Given the description of an element on the screen output the (x, y) to click on. 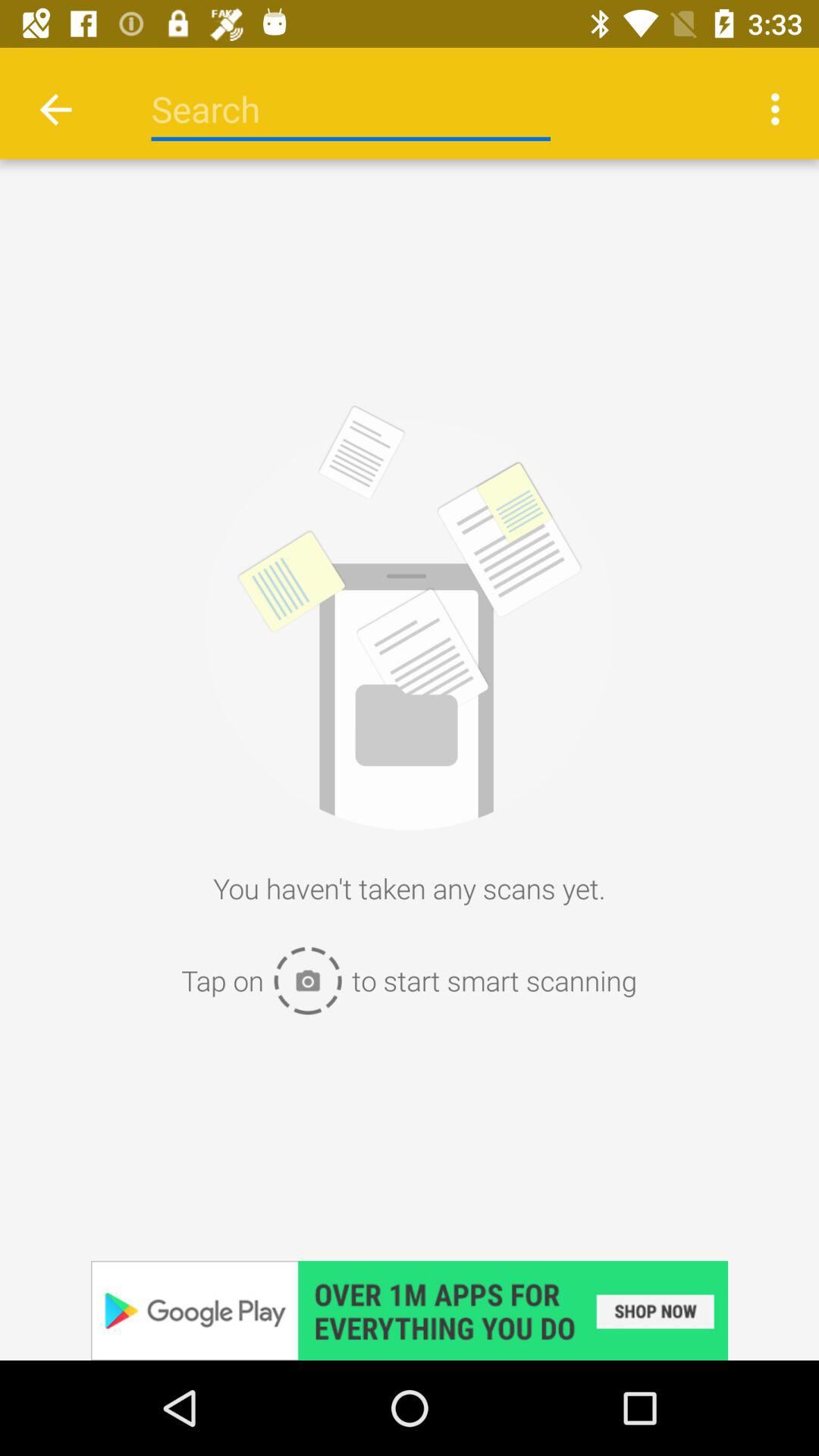
search the option (350, 109)
